Given the description of an element on the screen output the (x, y) to click on. 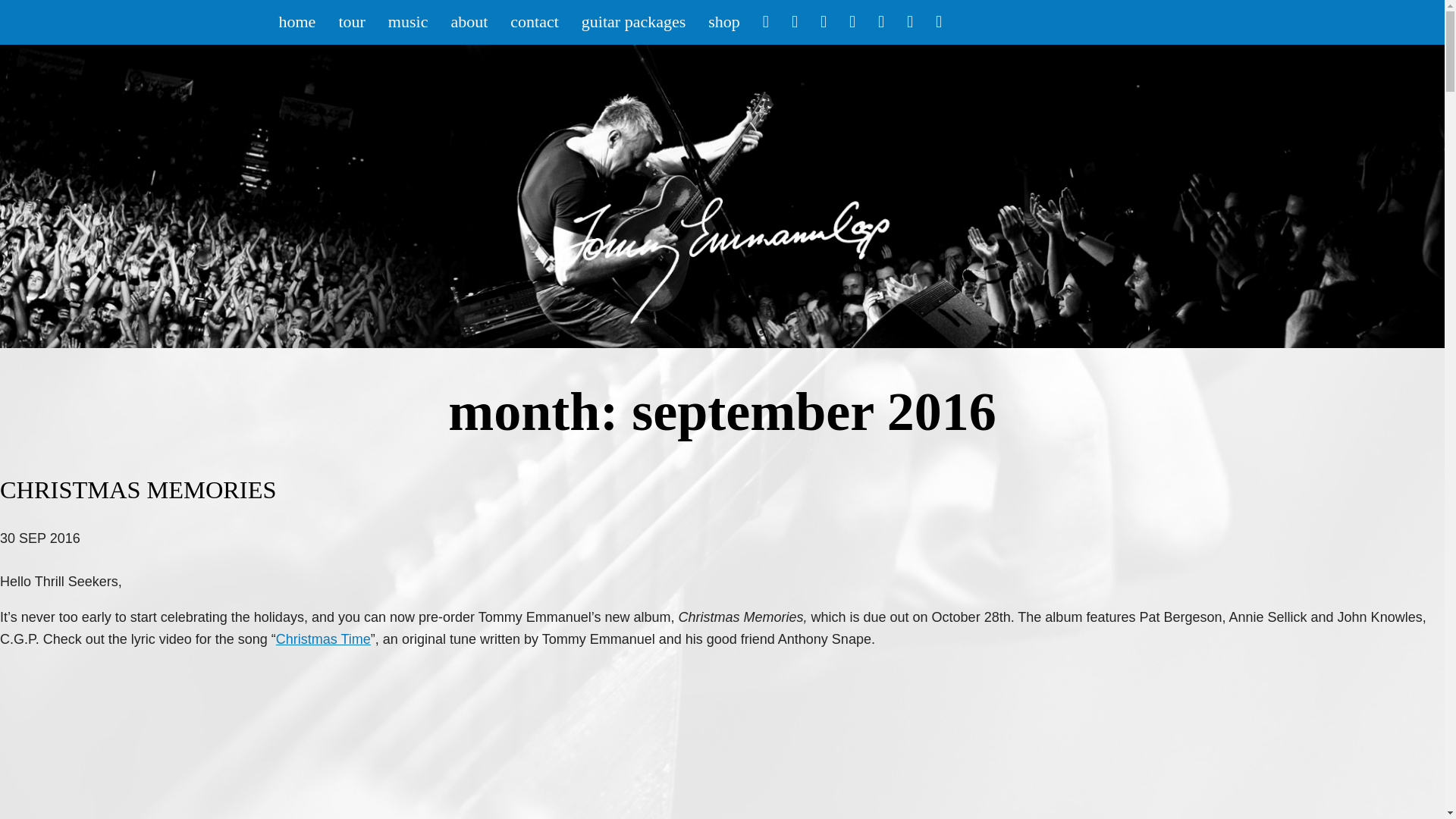
Christmas Time (323, 639)
music (408, 22)
shop (724, 22)
about (469, 22)
guitar packages (633, 22)
home (296, 22)
contact (534, 22)
tour (350, 22)
